Given the description of an element on the screen output the (x, y) to click on. 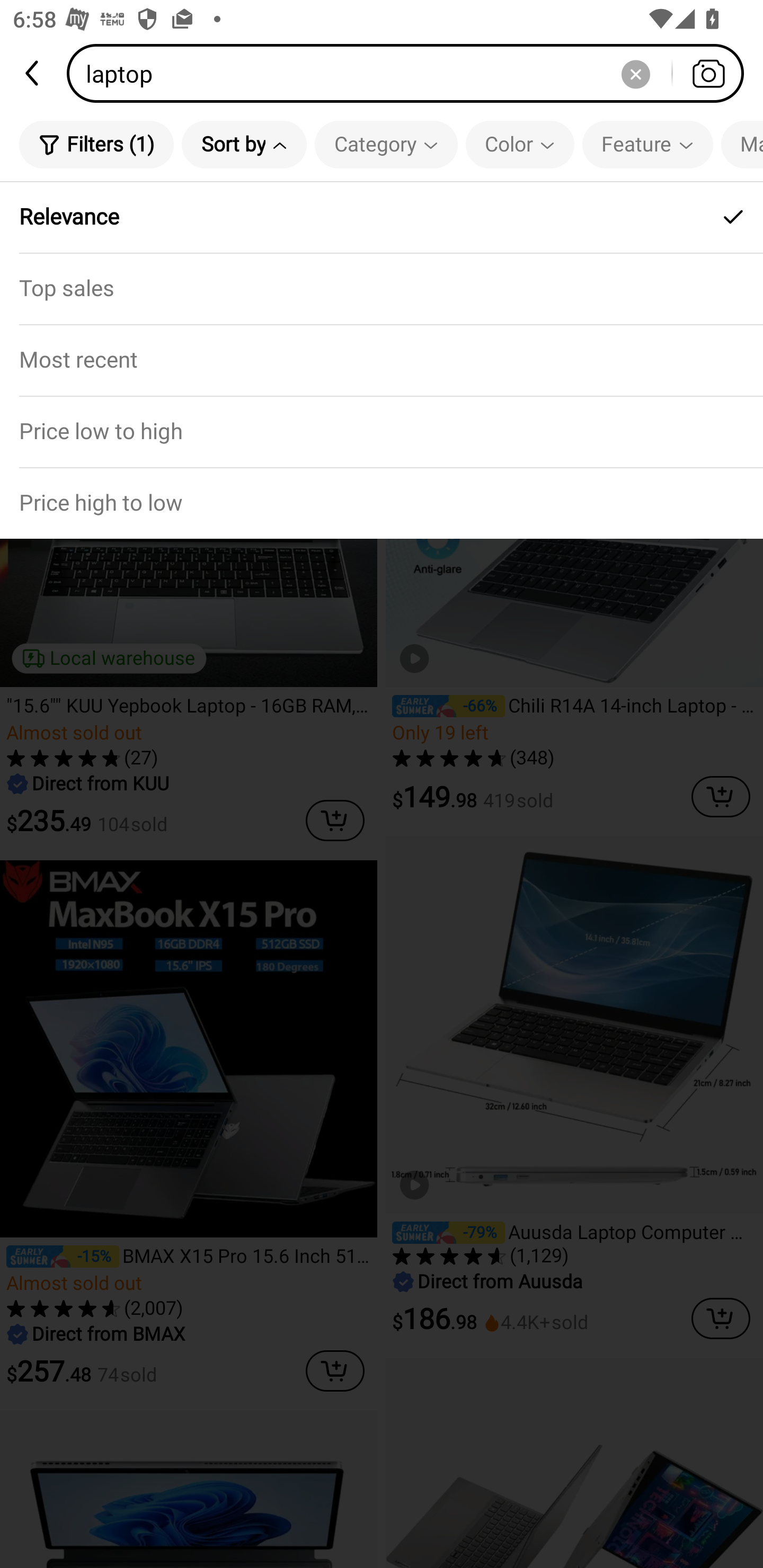
back laptop Delete search history Search by photo (381, 72)
back (33, 72)
laptop (411, 73)
Delete search history (635, 73)
Search by photo (708, 73)
Filters (1) (96, 143)
Sort by (243, 143)
Category (385, 143)
Color (519, 143)
Feature (647, 143)
Relevance (381, 216)
Top sales (381, 288)
Most recent (381, 359)
Price low to high (381, 431)
Price high to low (381, 503)
